Given the description of an element on the screen output the (x, y) to click on. 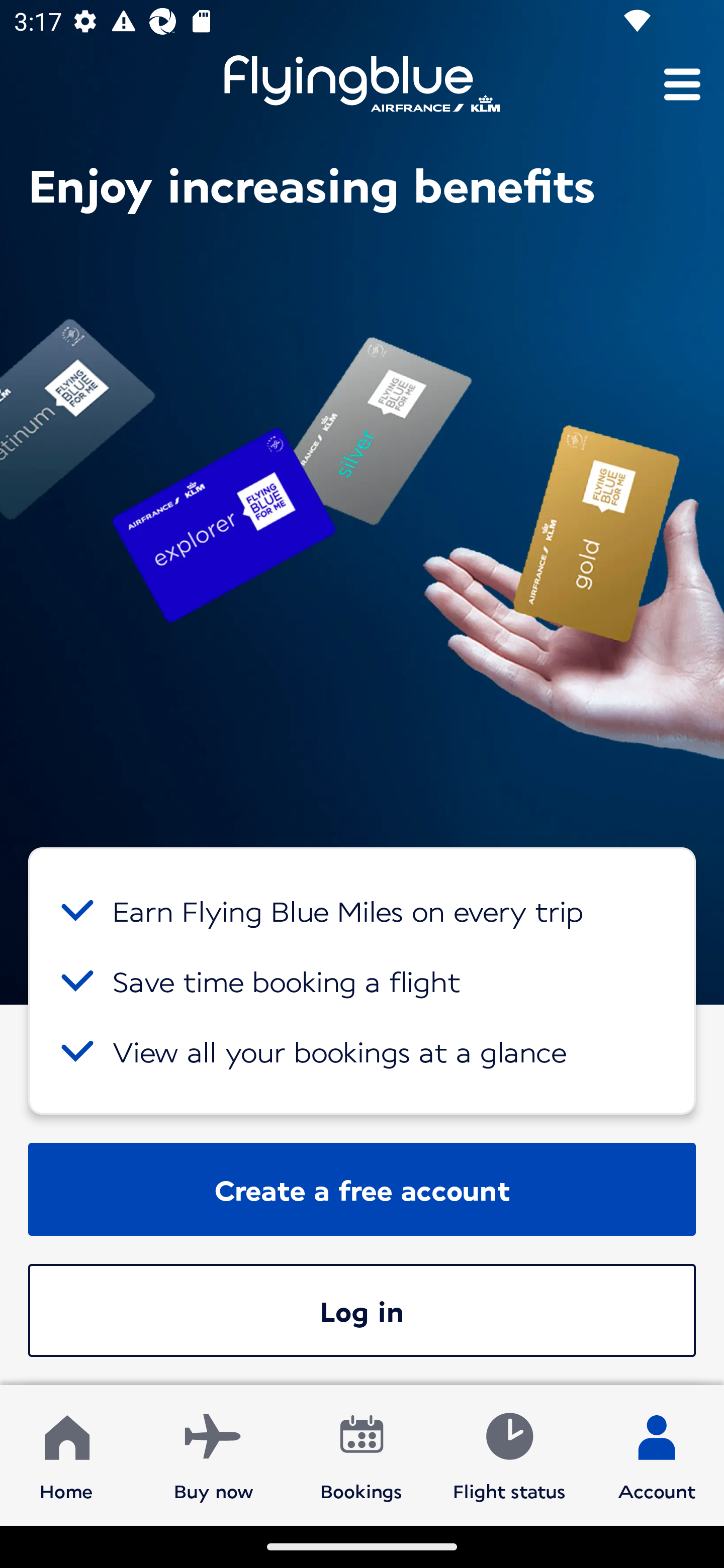
Create a free account (361, 1189)
Log in (361, 1309)
Home (66, 1454)
Buy now (213, 1454)
Bookings (361, 1454)
Flight status (509, 1454)
